Given the description of an element on the screen output the (x, y) to click on. 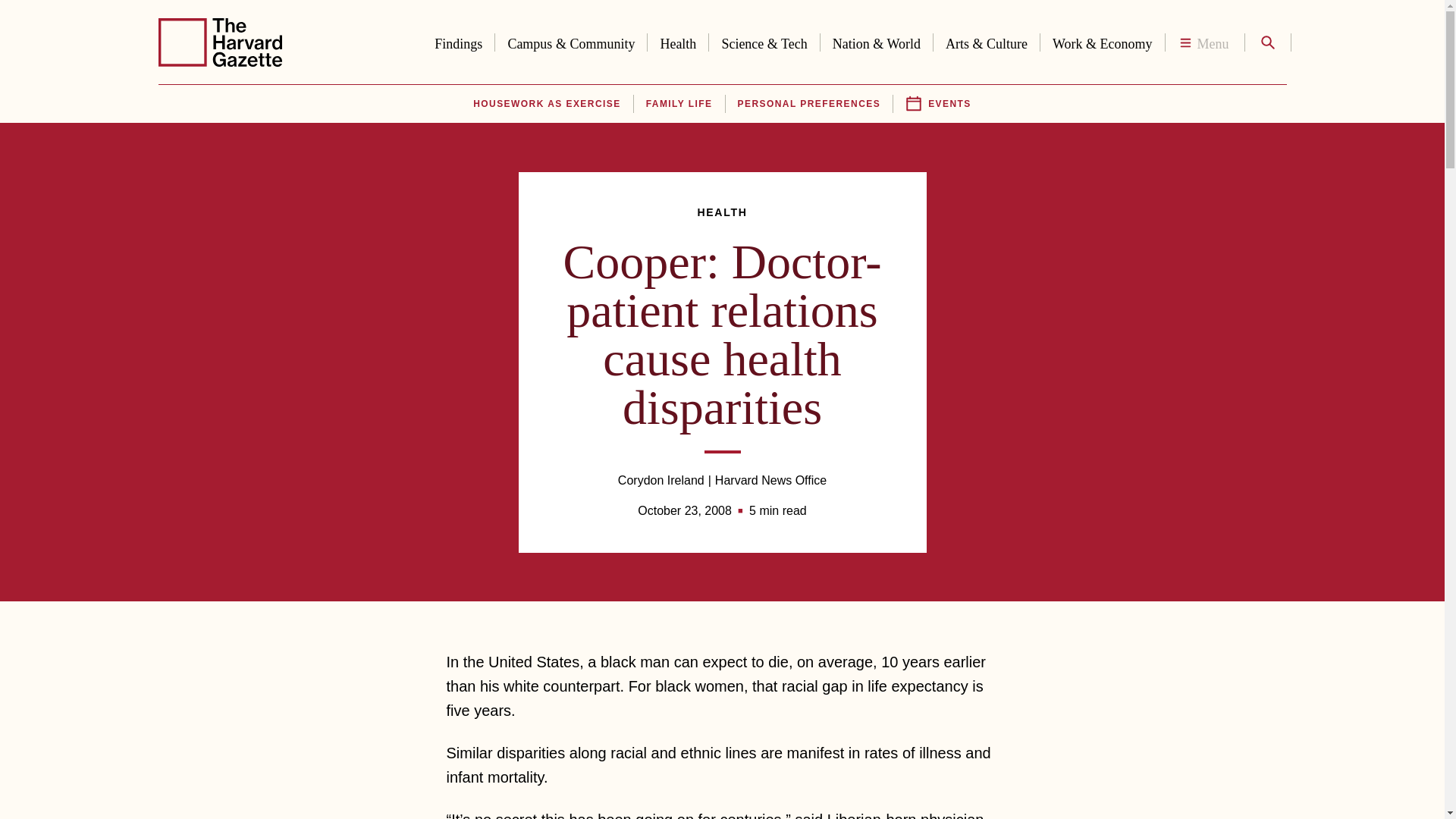
PERSONAL PREFERENCES (809, 103)
Menu (1204, 42)
FAMILY LIFE (679, 103)
HOUSEWORK AS EXERCISE (546, 103)
Findings (457, 41)
Health (677, 41)
